Given the description of an element on the screen output the (x, y) to click on. 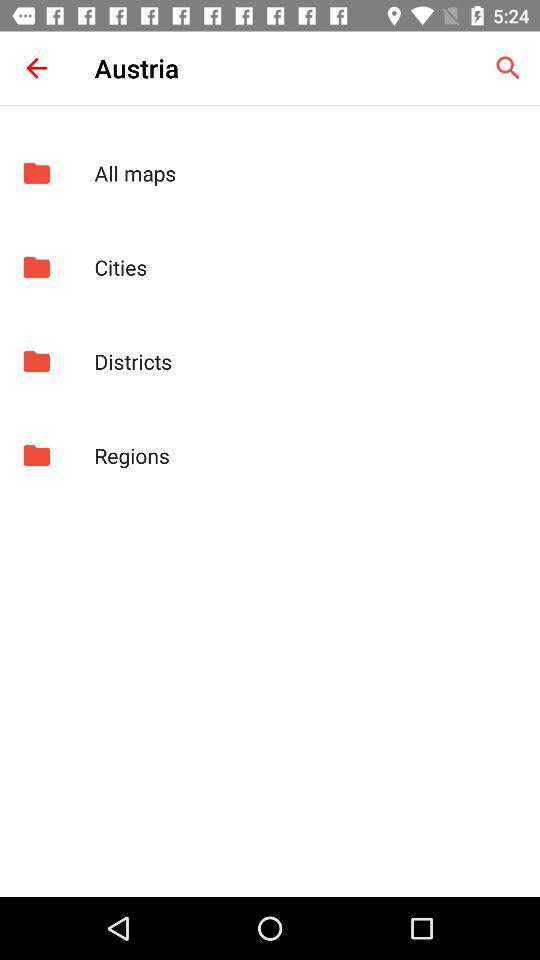
open the districts (306, 361)
